Given the description of an element on the screen output the (x, y) to click on. 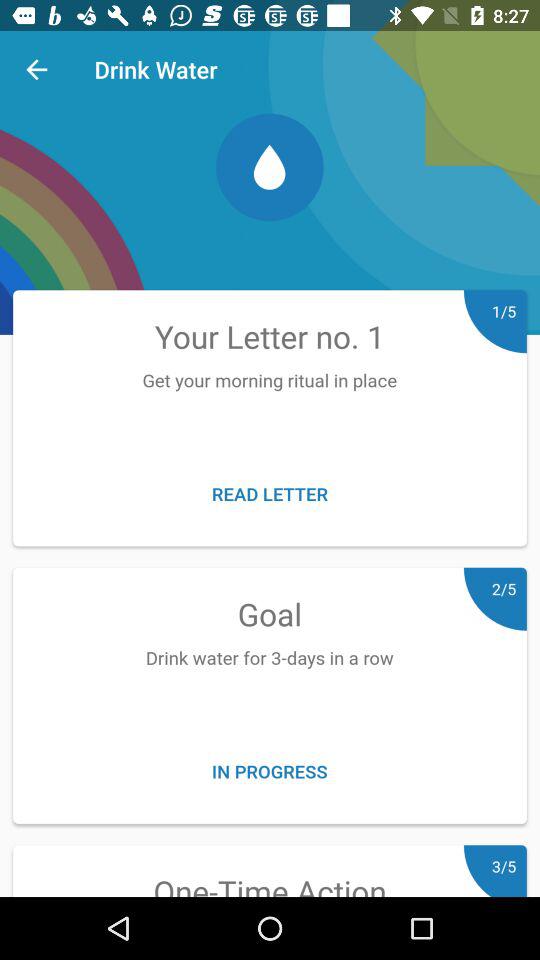
turn off icon above goal item (269, 493)
